Given the description of an element on the screen output the (x, y) to click on. 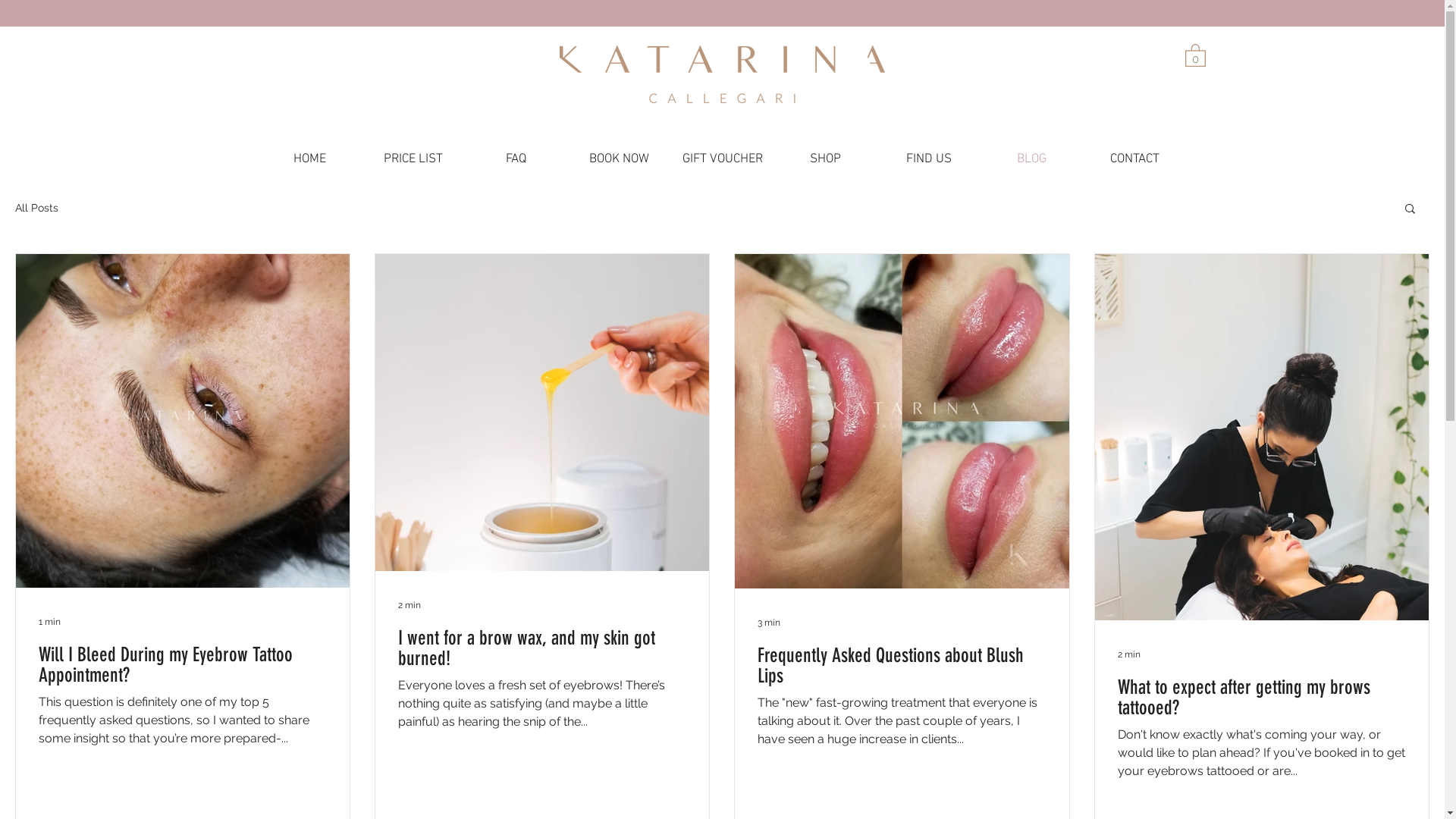
Frequently Asked Questions about Blush Lips Element type: text (901, 665)
GIFT VOUCHER Element type: text (721, 159)
PRICE LIST Element type: text (412, 159)
CONTACT Element type: text (1134, 159)
I went for a brow wax, and my skin got burned! Element type: text (542, 647)
Will I Bleed During my Eyebrow Tattoo Appointment? Element type: text (182, 664)
All Posts Element type: text (36, 207)
HOME Element type: text (308, 159)
SHOP Element type: text (824, 159)
BOOK NOW Element type: text (618, 159)
What to expect after getting my brows tattooed? Element type: text (1261, 697)
0 Element type: text (1194, 54)
FAQ Element type: text (515, 159)
FIND US Element type: text (927, 159)
BLOG Element type: text (1030, 159)
